Given the description of an element on the screen output the (x, y) to click on. 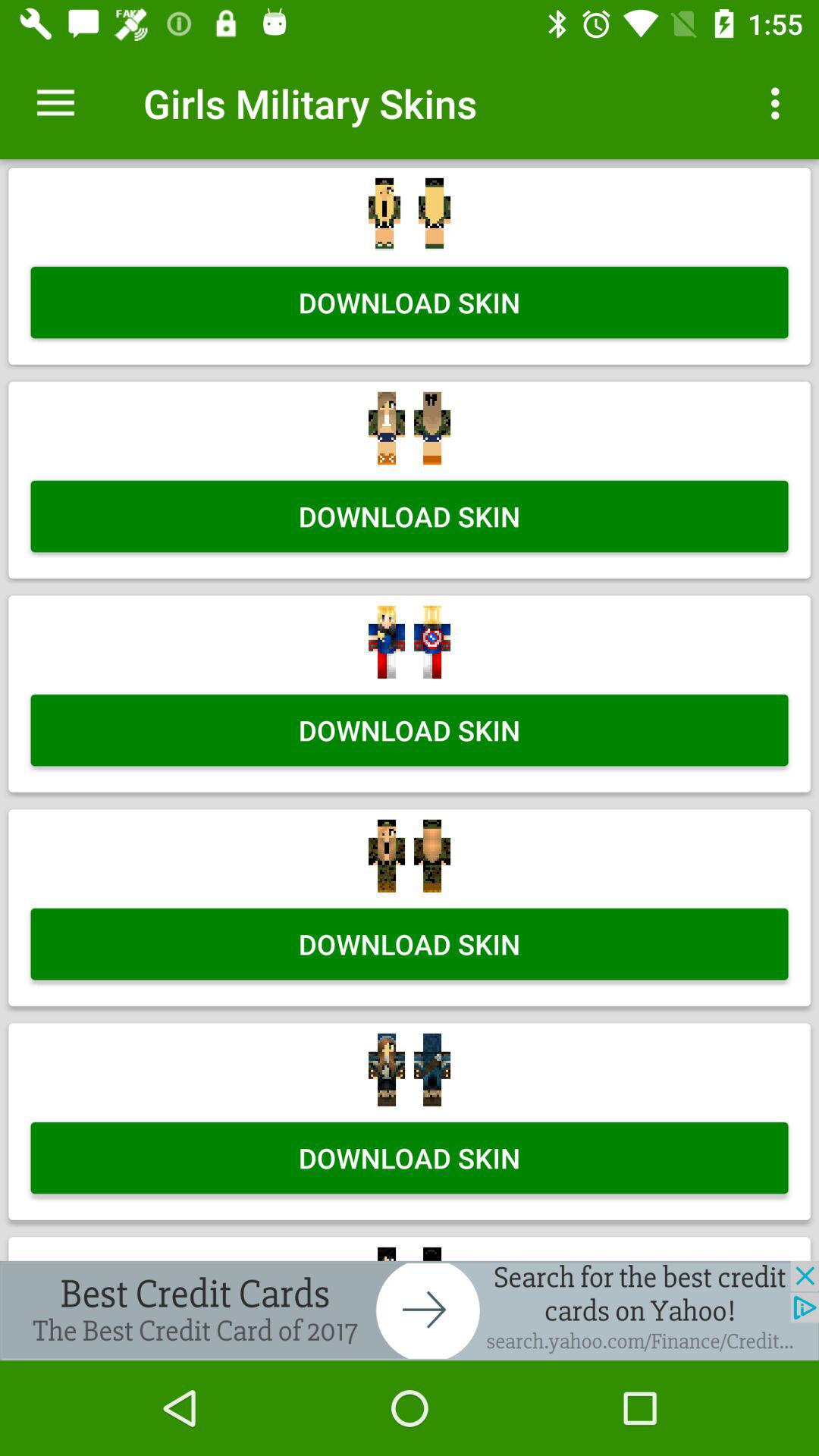
open advertisement (409, 1310)
